Given the description of an element on the screen output the (x, y) to click on. 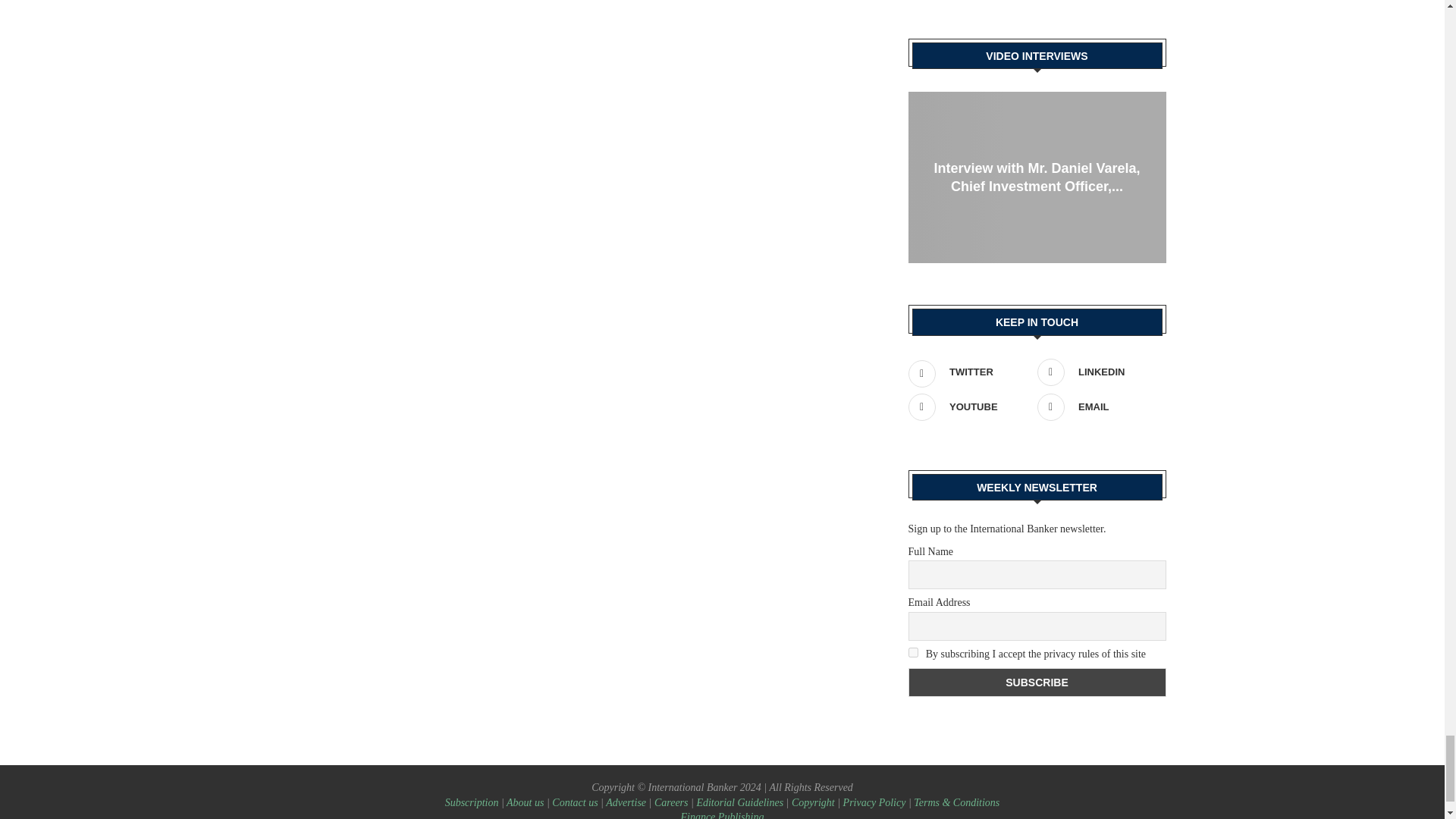
Subscribe (1037, 682)
on (913, 652)
